Given the description of an element on the screen output the (x, y) to click on. 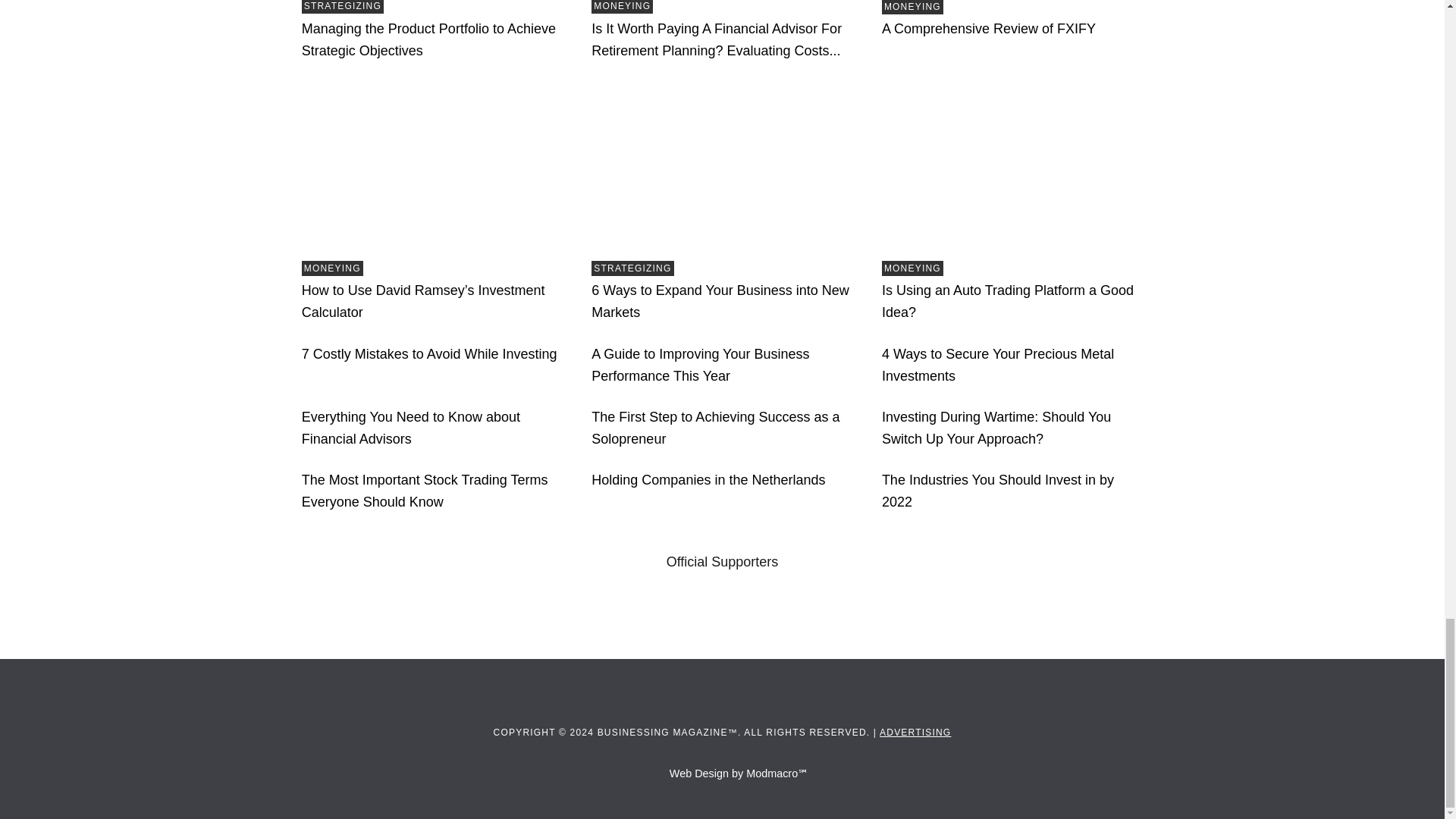
BM Windows San Diego (500, 614)
Quick Caption (672, 614)
Is Using an Auto Trading Platform a Good Idea? (1012, 167)
6 Ways to Expand Your Business into New Markets (721, 168)
AV Programming Associates, Inc. (420, 614)
Golden Care San Diego (579, 614)
Burg Network (845, 614)
Contemporary Communications Consulting (765, 614)
